Given the description of an element on the screen output the (x, y) to click on. 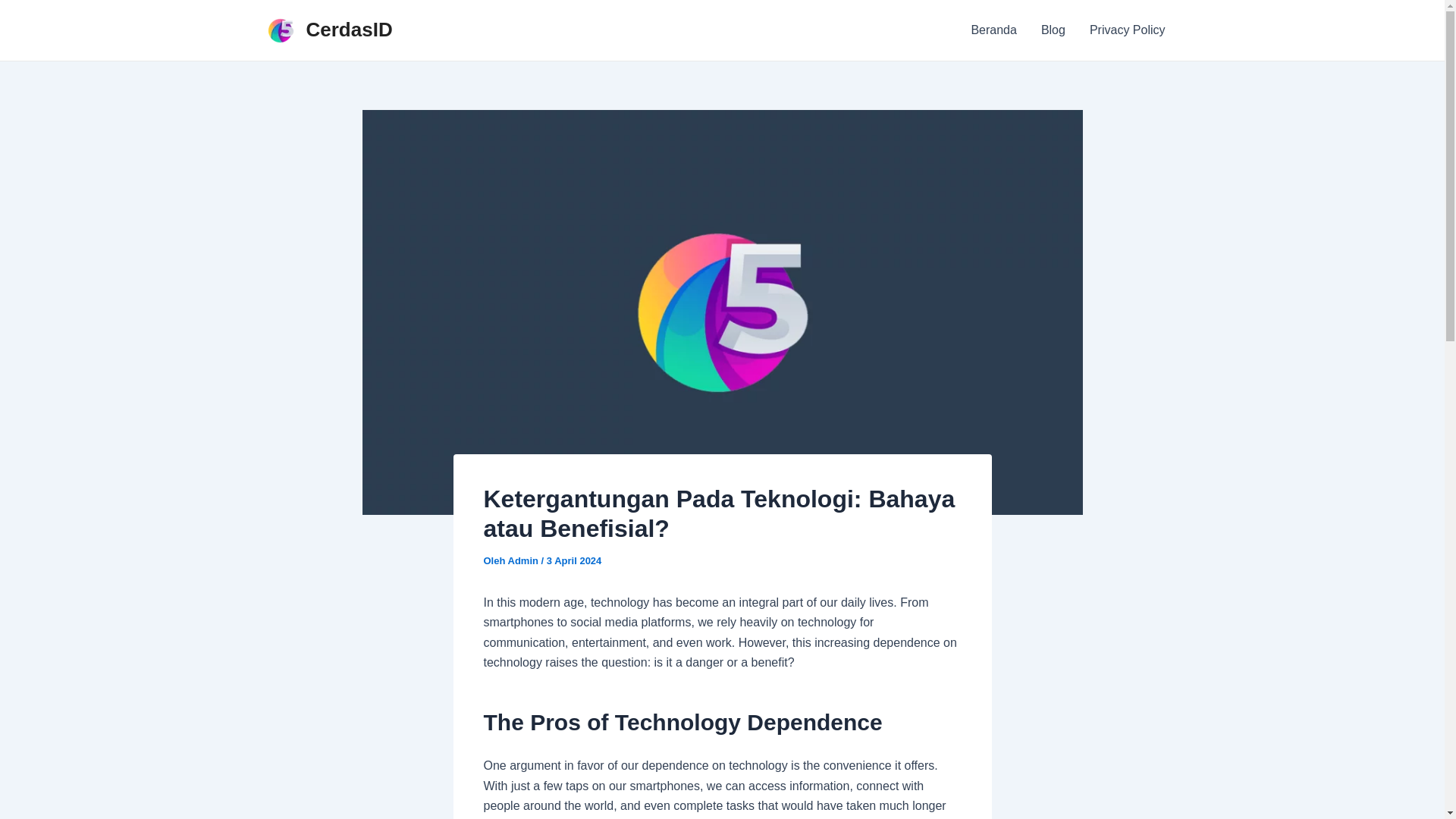
Admin (524, 560)
Lihat seluruh tulisan oleh Admin (524, 560)
Blog (1053, 30)
Beranda (993, 30)
Privacy Policy (1127, 30)
CerdasID (349, 29)
